Given the description of an element on the screen output the (x, y) to click on. 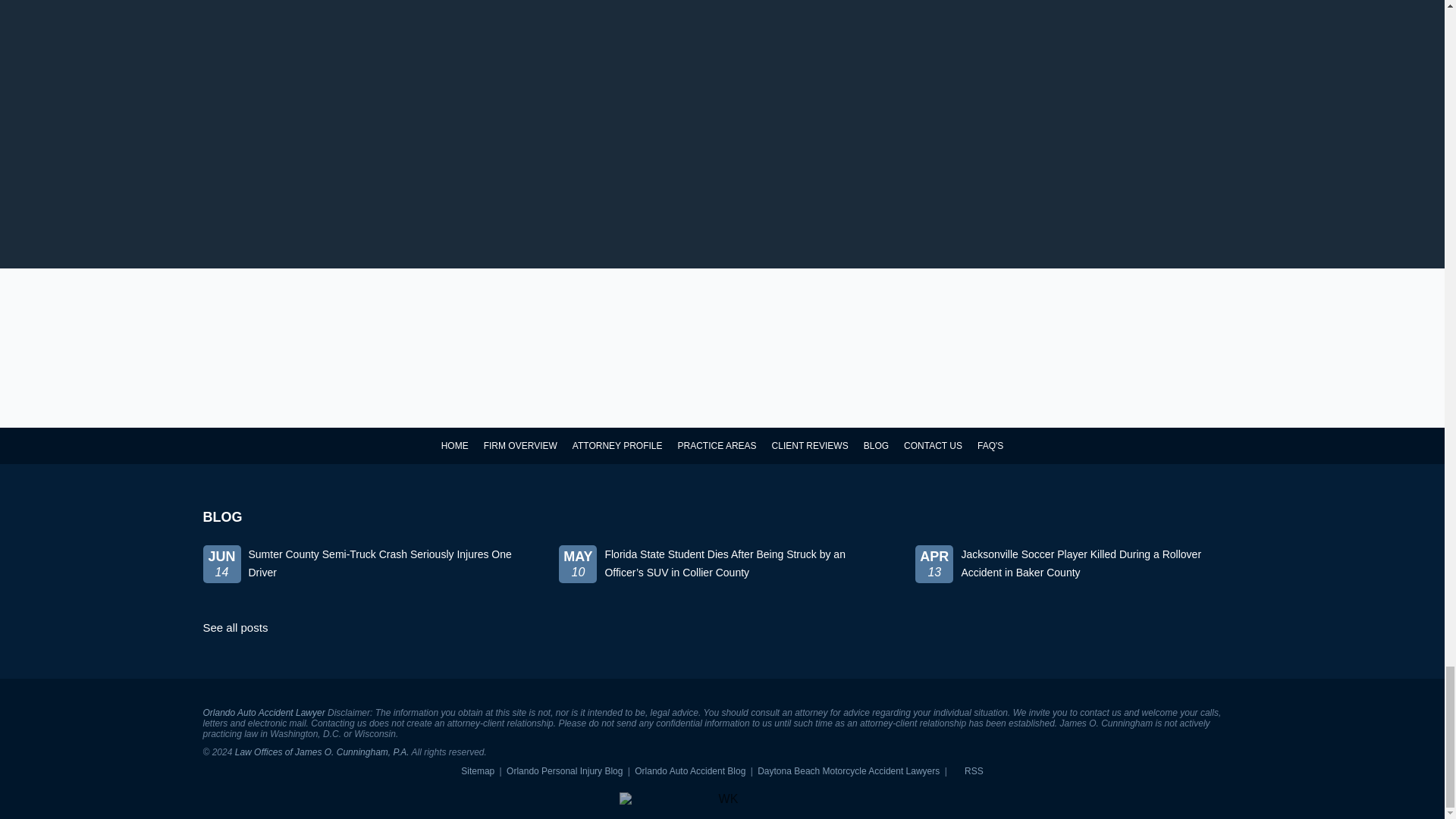
Sumter County Semi-Truck Crash Seriously Injures One Driver (366, 577)
